Given the description of an element on the screen output the (x, y) to click on. 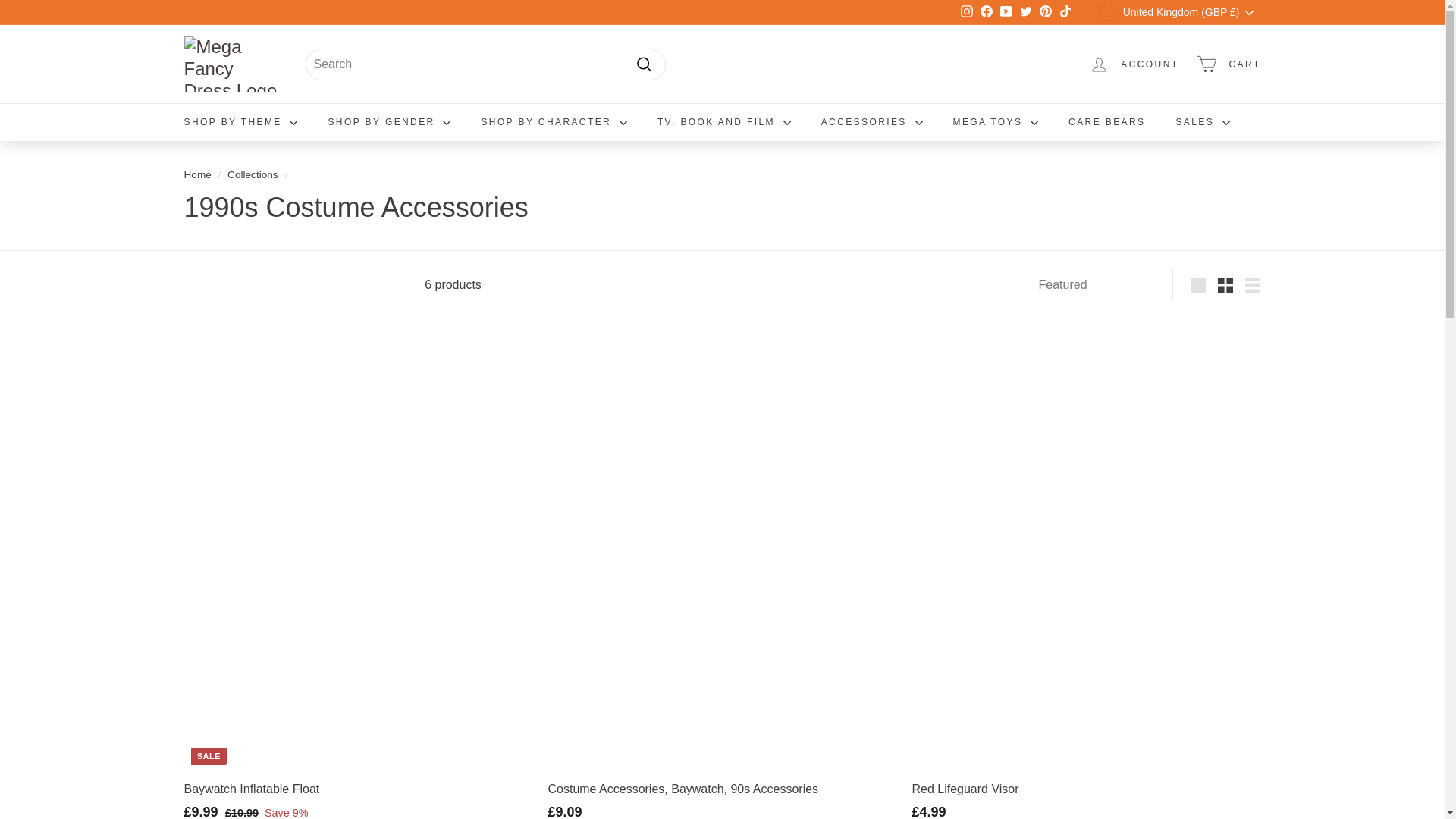
ACCOUNT (1134, 63)
twitter (1026, 10)
instagram (966, 10)
Large (1198, 285)
CART (1228, 63)
List (1252, 285)
Back to the frontpage (197, 174)
Small (1225, 285)
